Given the description of an element on the screen output the (x, y) to click on. 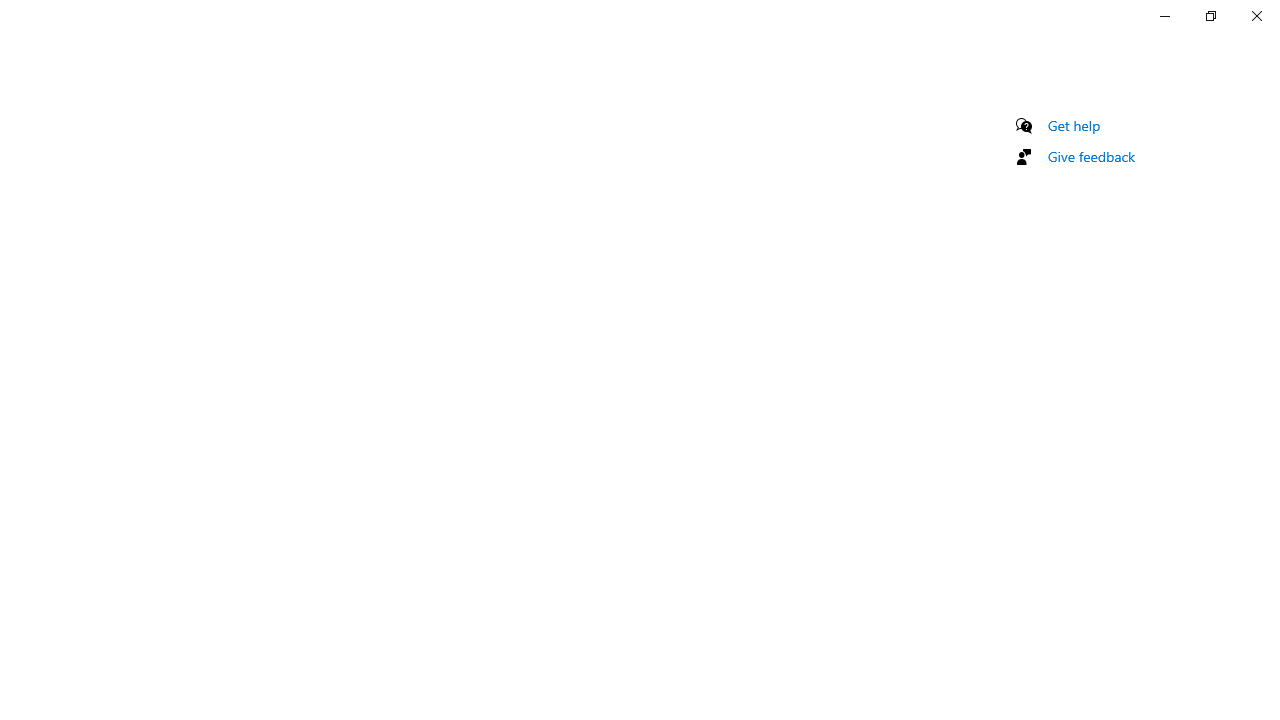
Give feedback (1091, 156)
Close Settings (1256, 15)
Get help (1074, 125)
Restore Settings (1210, 15)
Minimize Settings (1164, 15)
